Given the description of an element on the screen output the (x, y) to click on. 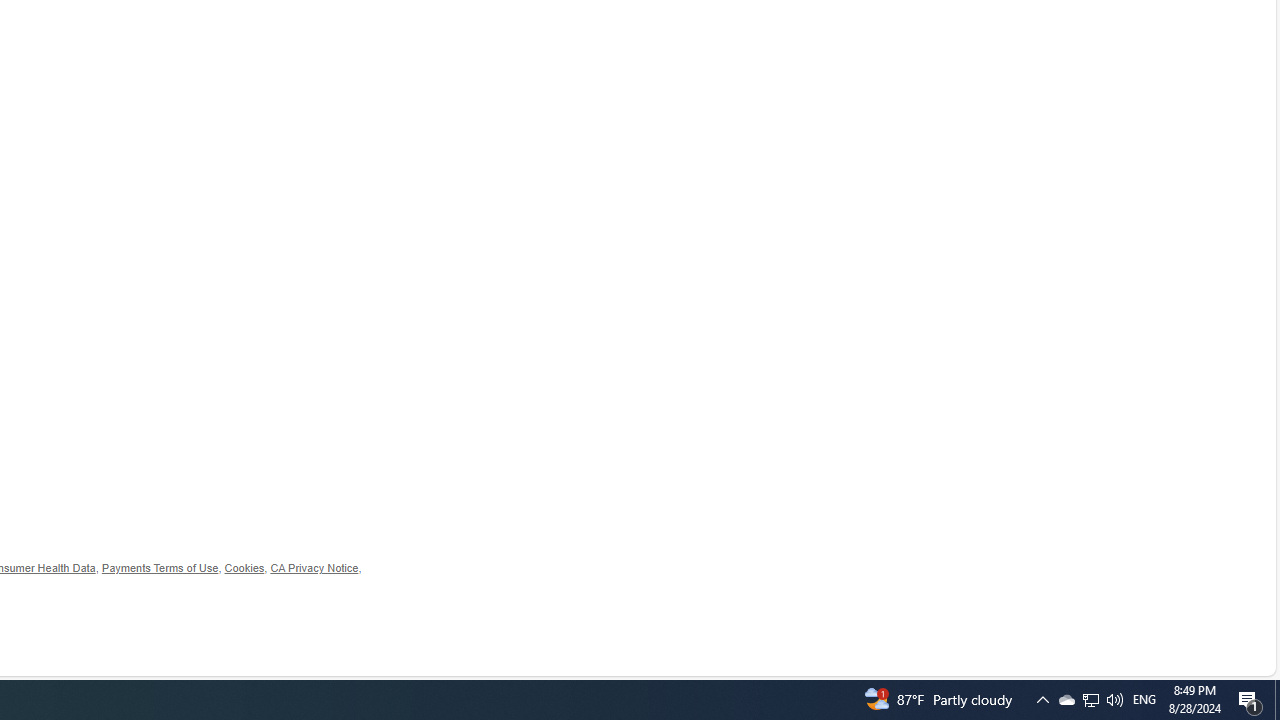
Payments Terms of Use (159, 567)
CA Privacy Notice (314, 567)
Cookies (244, 567)
